Given the description of an element on the screen output the (x, y) to click on. 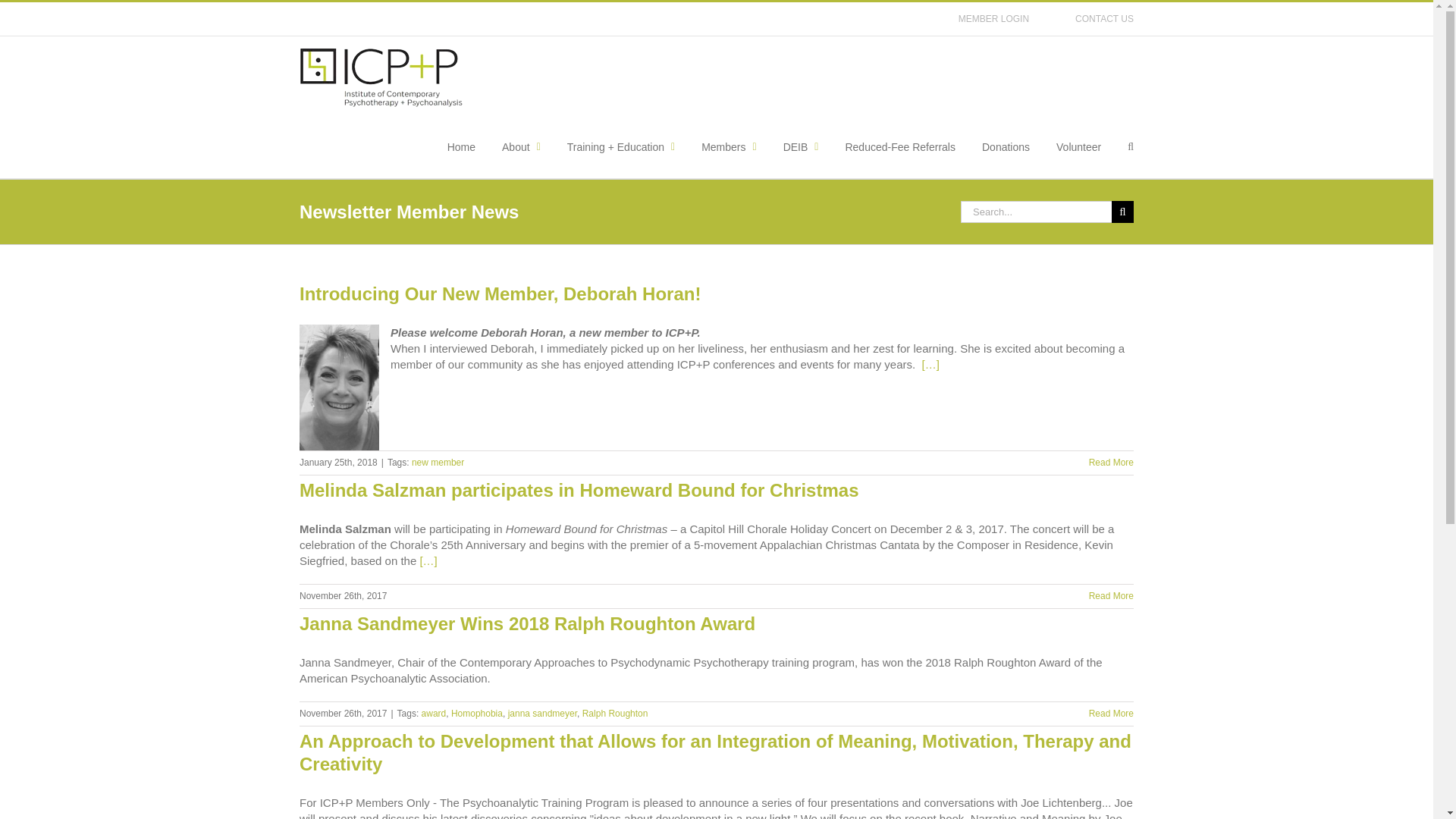
MEMBER LOGIN (993, 19)
Reduced-Fee Referrals (899, 146)
CONTACT US (1104, 19)
